Given the description of an element on the screen output the (x, y) to click on. 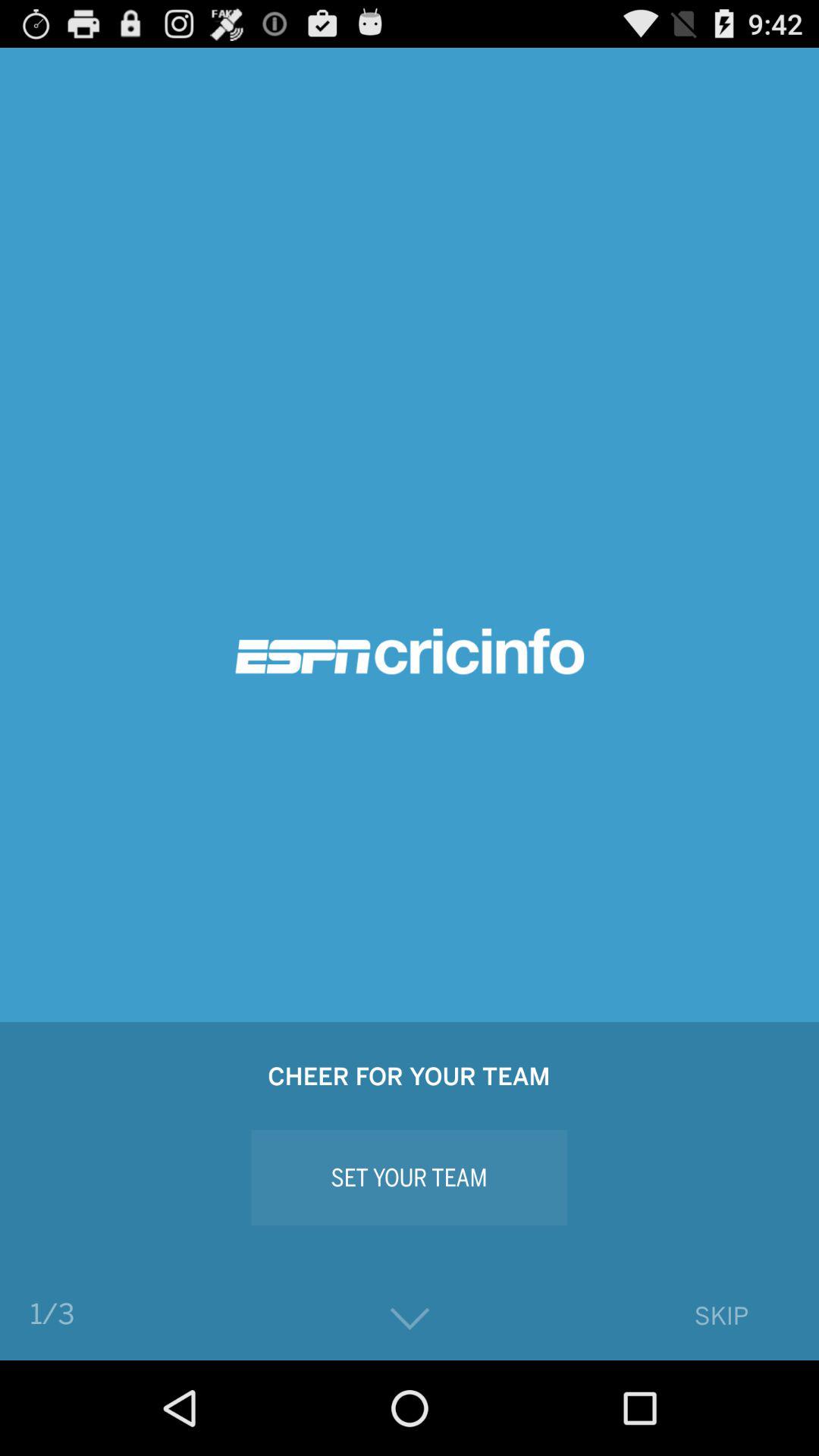
turn off the button below set your team (409, 1319)
